Given the description of an element on the screen output the (x, y) to click on. 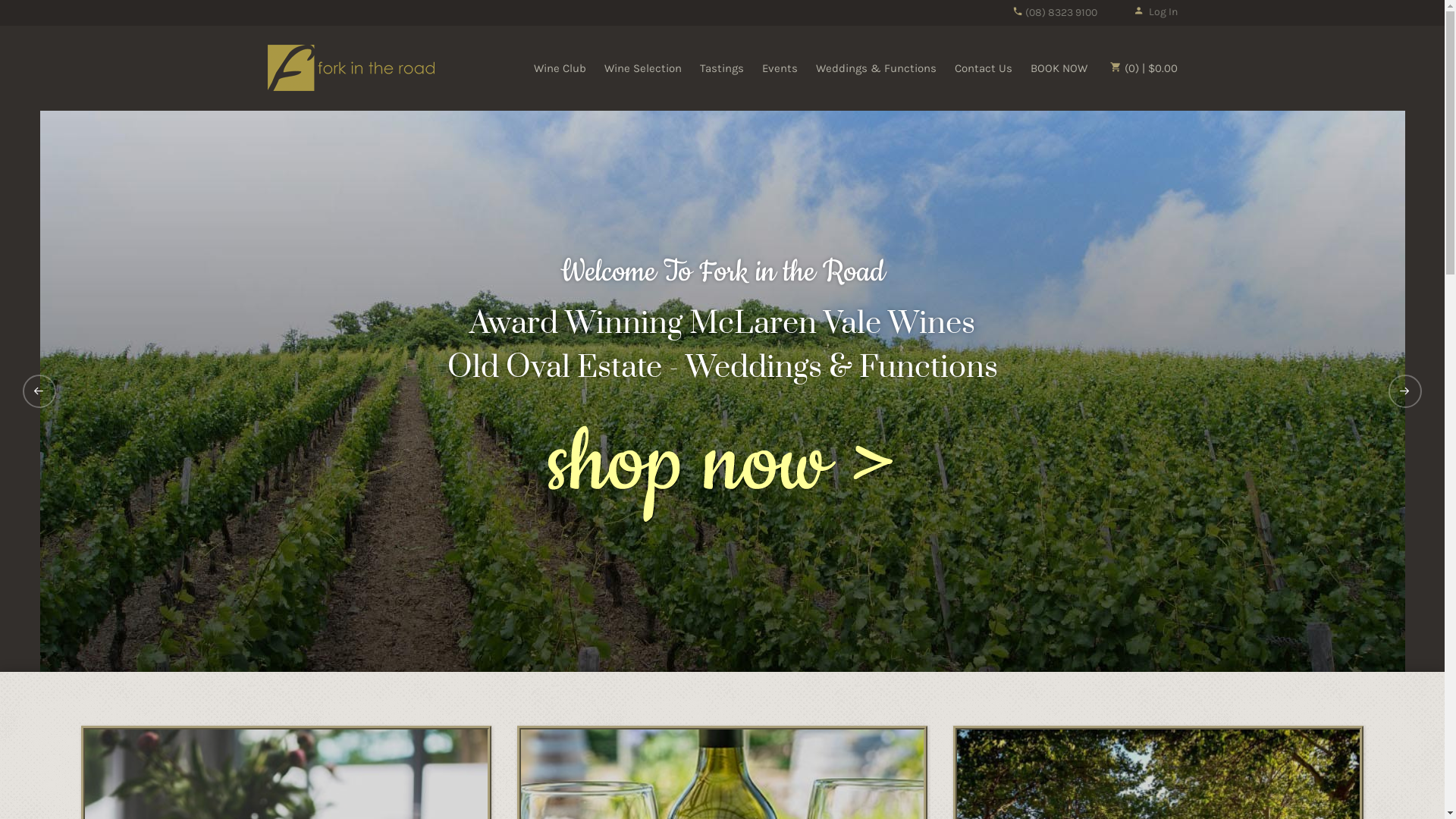
(0) | $0.00 Element type: text (1143, 68)
Wine Club Element type: text (559, 68)
BOOK NOW Element type: text (1057, 68)
Tastings Element type: text (721, 68)
Weddings & Functions Element type: text (875, 68)
(08) 8323 9100 Element type: text (1053, 12)
Wine Selection Element type: text (641, 68)
Events Element type: text (779, 68)
Contact Us Element type: text (982, 68)
Fork In The Road Wines Element type: text (349, 66)
Log In Element type: text (1154, 11)
